Given the description of an element on the screen output the (x, y) to click on. 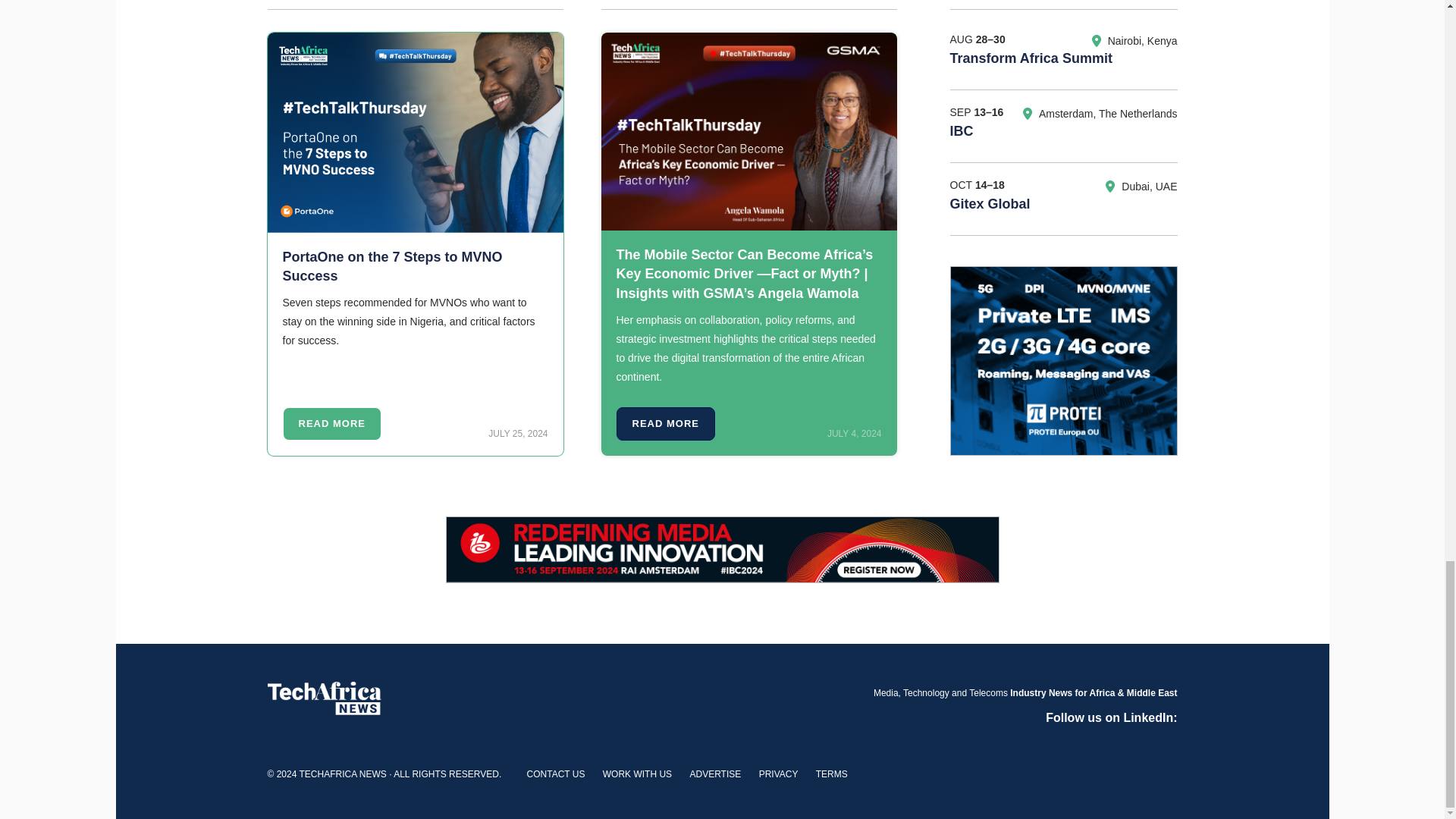
PRIVACY (777, 774)
CONTACT US (556, 774)
TERMS (831, 774)
ADVERTISE (714, 774)
WORK WITH US (636, 774)
